Given the description of an element on the screen output the (x, y) to click on. 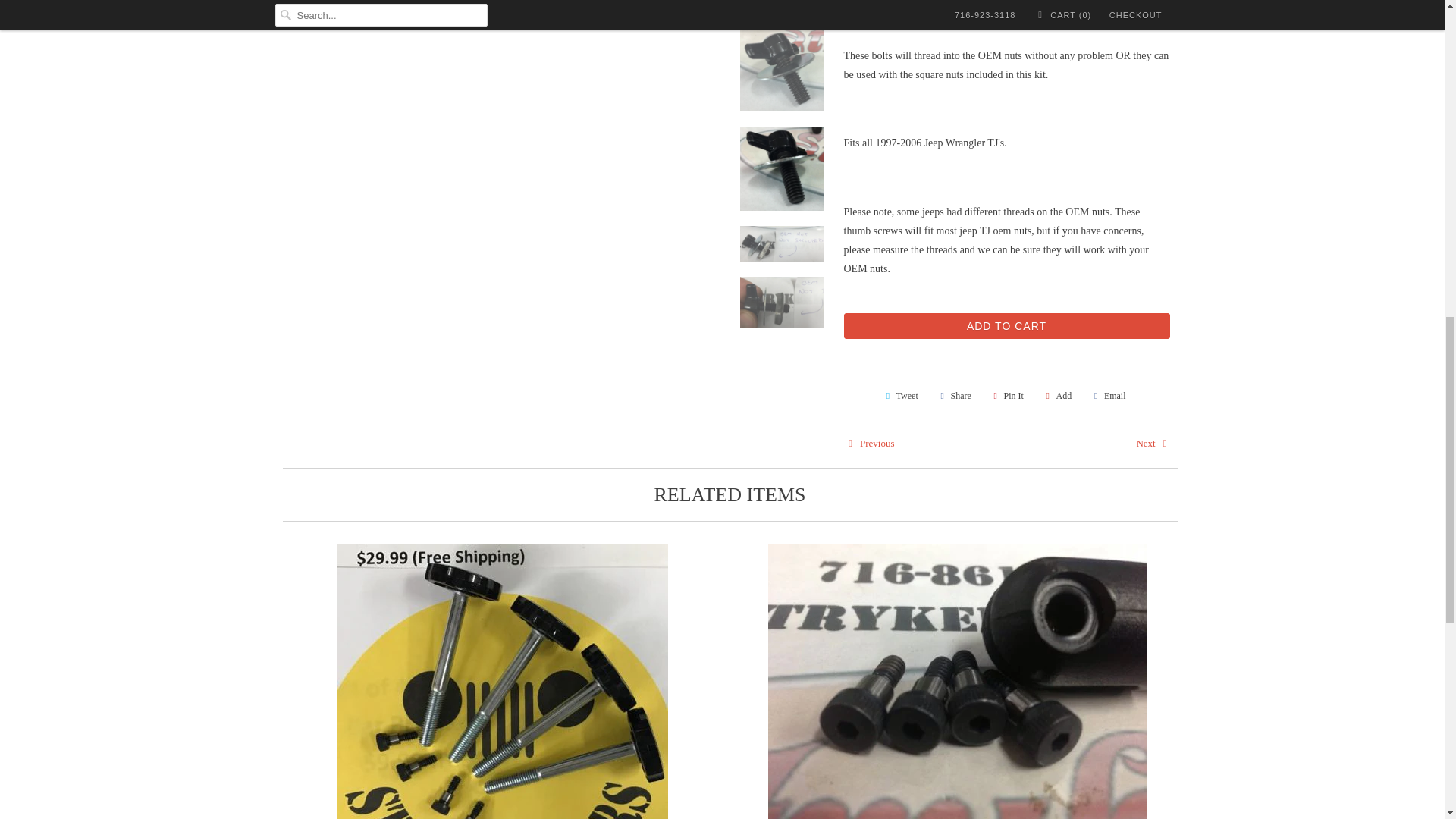
Pin It (1005, 395)
Email this to a friend (1107, 395)
Share this on Facebook (953, 395)
Tweet (898, 395)
Add (1055, 395)
Share this on Pinterest (1005, 395)
Share (953, 395)
ADD TO CART (1006, 325)
Email (1107, 395)
Next (1152, 442)
Share this on Twitter (898, 395)
